Given the description of an element on the screen output the (x, y) to click on. 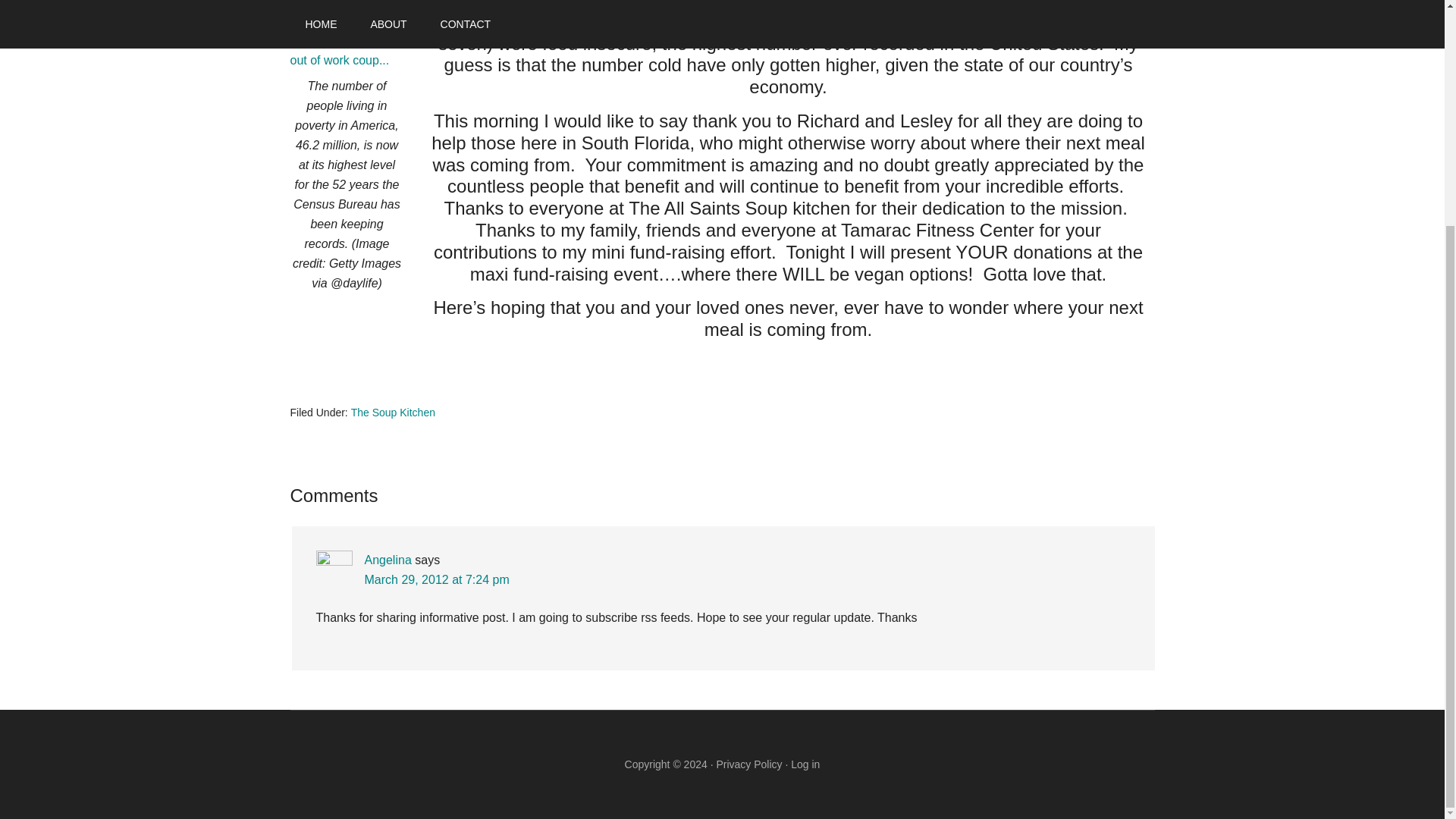
Privacy Policy (748, 764)
The Soup Kitchen (392, 412)
Angelina (387, 559)
March 29, 2012 at 7:24 pm (436, 579)
READING, PA - OCTOBER 20:  An out of work coup... (346, 40)
Log in (804, 764)
